Given the description of an element on the screen output the (x, y) to click on. 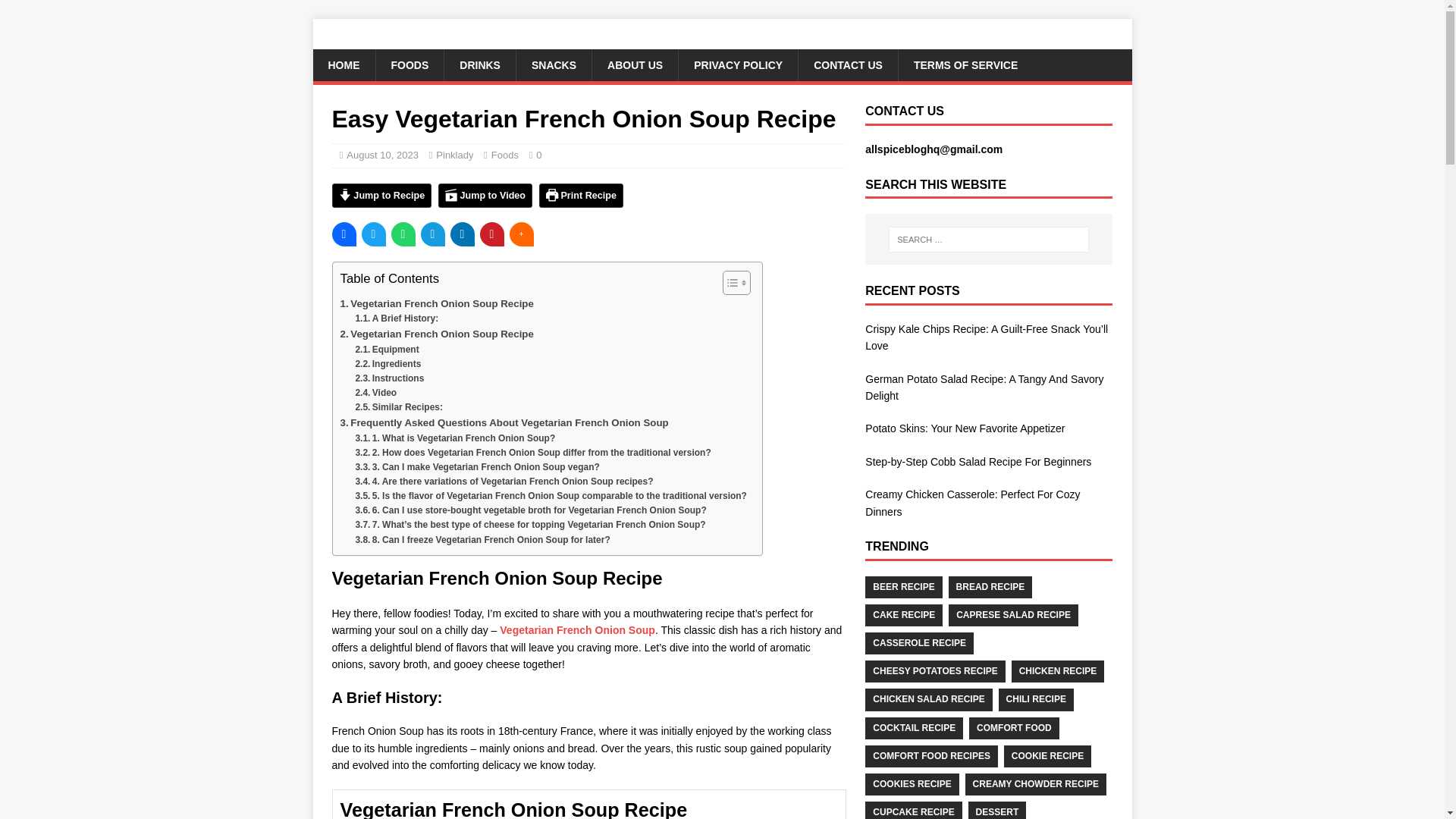
DRINKS (479, 65)
Equipment (387, 350)
A Brief History: (396, 318)
Vegetarian French Onion Soup Recipe (435, 303)
CONTACT US (847, 65)
Jump to Recipe (381, 195)
Foods (505, 154)
Equipment (387, 350)
